Given the description of an element on the screen output the (x, y) to click on. 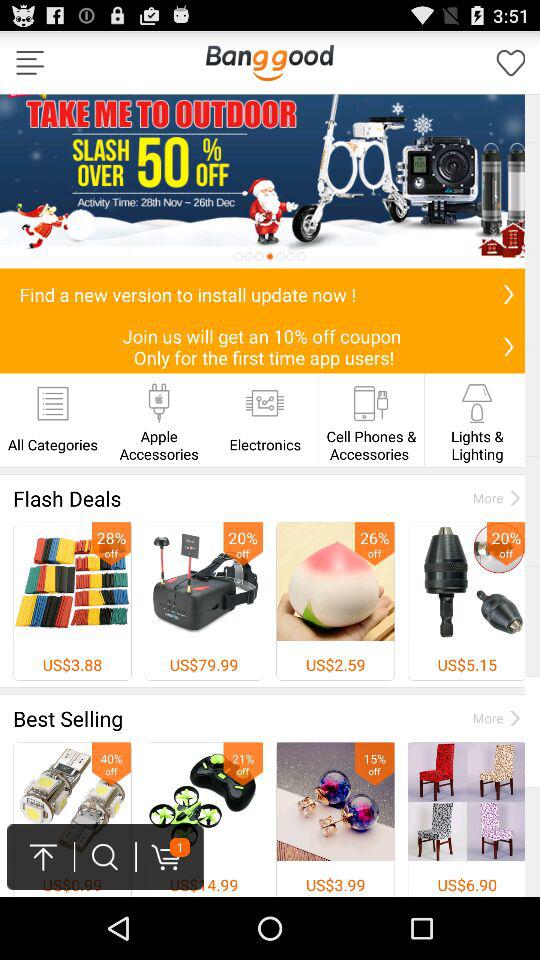
find new version (508, 294)
